Given the description of an element on the screen output the (x, y) to click on. 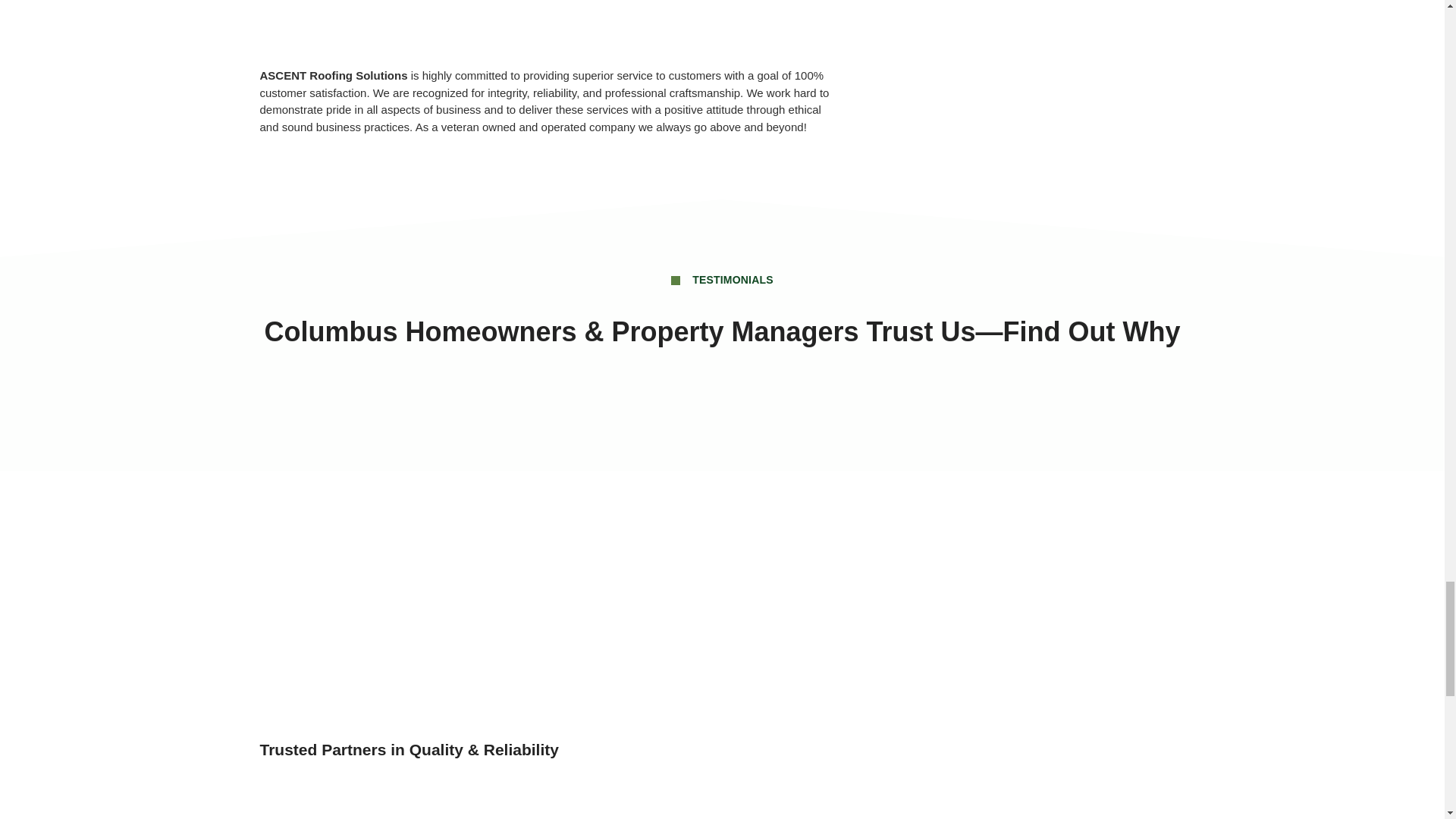
Canal Winchester, Ohio Roofer (545, 26)
